Given the description of an element on the screen output the (x, y) to click on. 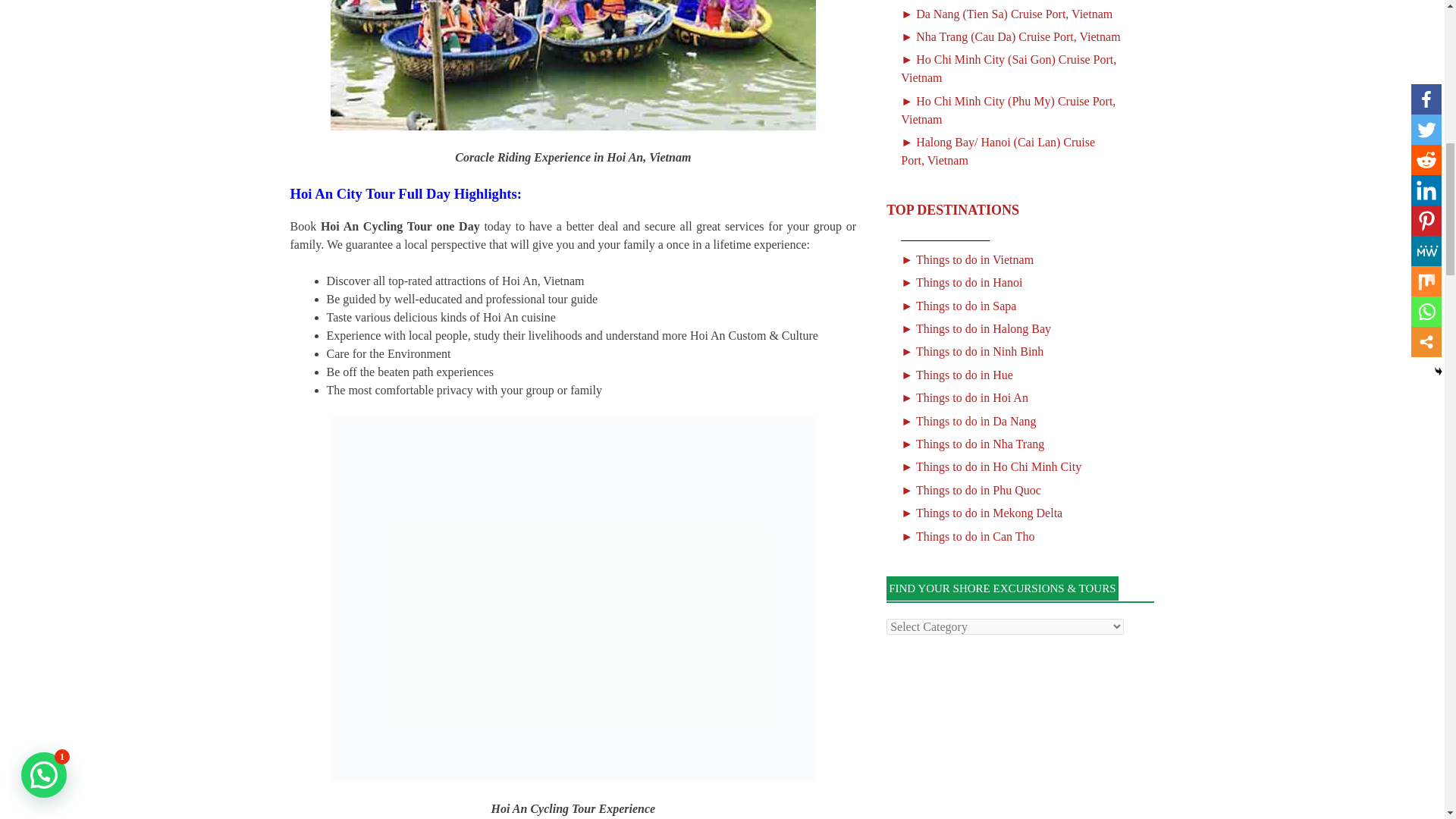
HOI AN CYCLING TOUR - PRIVATE TOUR (572, 65)
